Given the description of an element on the screen output the (x, y) to click on. 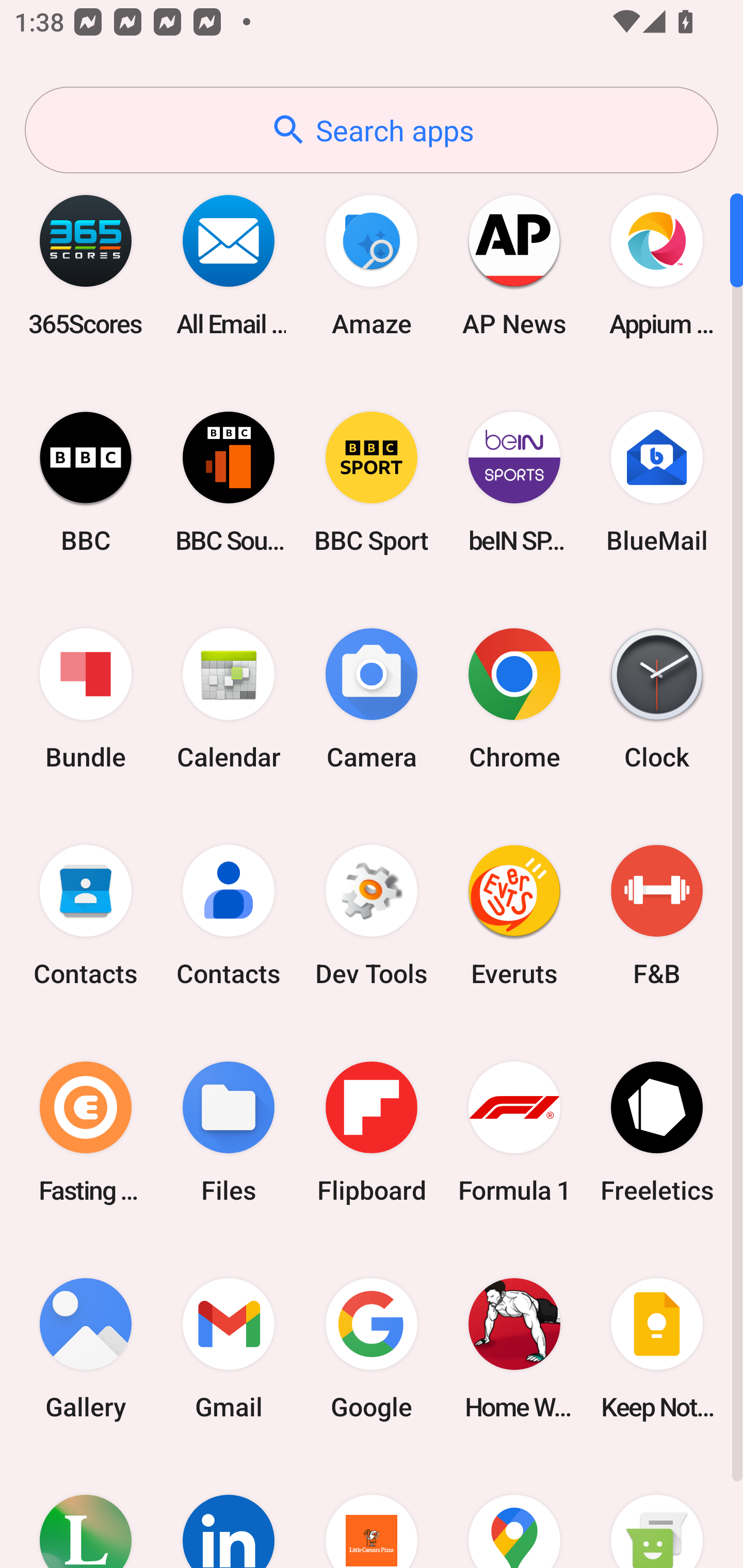
  Search apps (371, 130)
365Scores (85, 264)
All Email Connect (228, 264)
Amaze (371, 264)
AP News (514, 264)
Appium Settings (656, 264)
BBC (85, 482)
BBC Sounds (228, 482)
BBC Sport (371, 482)
beIN SPORTS (514, 482)
BlueMail (656, 482)
Bundle (85, 699)
Calendar (228, 699)
Camera (371, 699)
Chrome (514, 699)
Clock (656, 699)
Contacts (85, 915)
Contacts (228, 915)
Dev Tools (371, 915)
Everuts (514, 915)
F&B (656, 915)
Fasting Coach (85, 1131)
Files (228, 1131)
Flipboard (371, 1131)
Formula 1 (514, 1131)
Freeletics (656, 1131)
Gallery (85, 1348)
Gmail (228, 1348)
Google (371, 1348)
Home Workout (514, 1348)
Keep Notes (656, 1348)
Lifesum (85, 1512)
LinkedIn (228, 1512)
Little Caesars Pizza (371, 1512)
Maps (514, 1512)
Messaging (656, 1512)
